Given the description of an element on the screen output the (x, y) to click on. 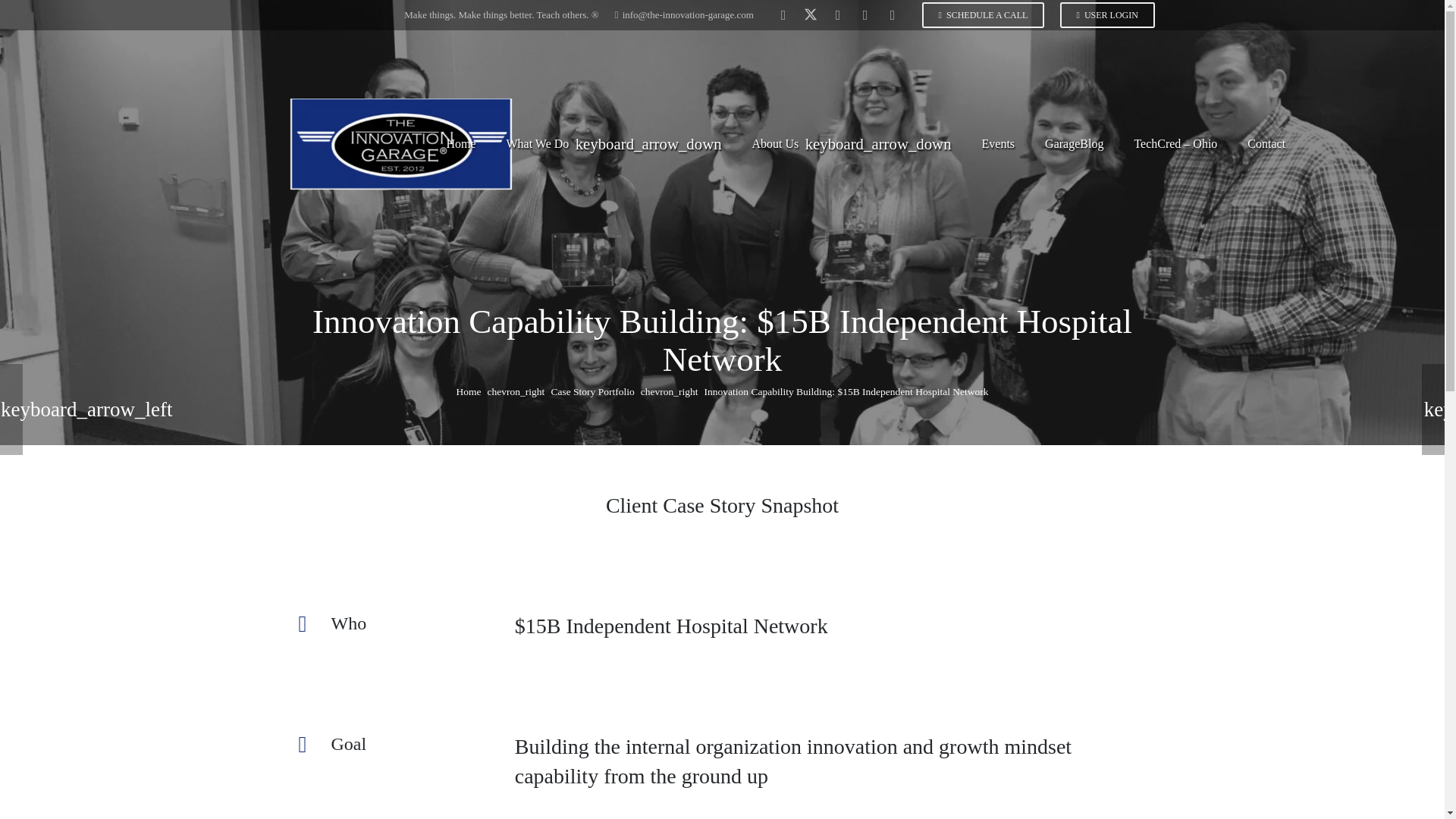
About Us (851, 143)
LinkedIn (837, 14)
Facebook (783, 14)
YouTube (865, 14)
SCHEDULE A CALL (982, 14)
Home (460, 143)
What We Do (614, 143)
Vimeo (892, 14)
USER LOGIN (1106, 14)
Twitter (810, 14)
